Given the description of an element on the screen output the (x, y) to click on. 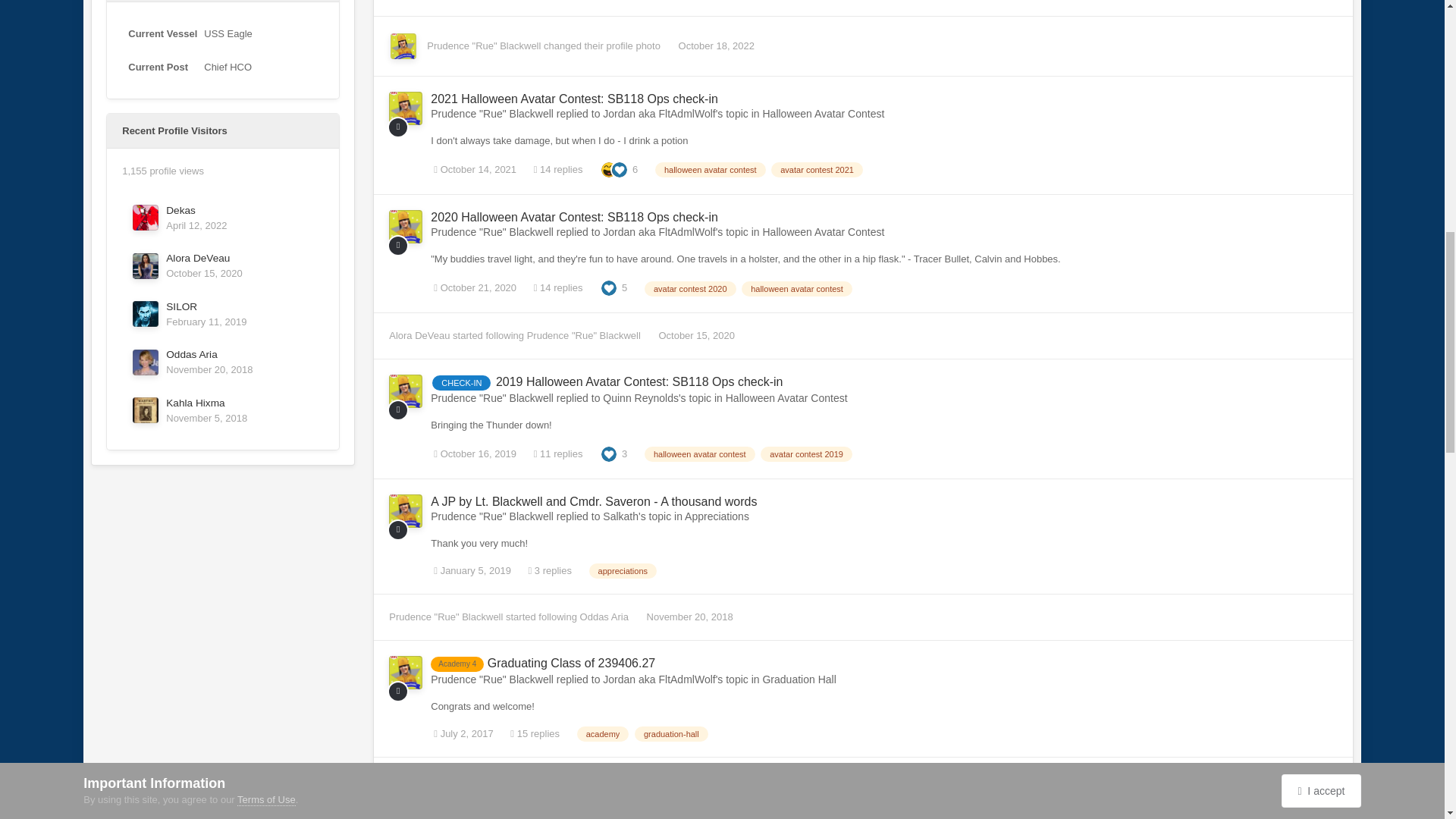
Go to Alora DeVeau's profile (145, 266)
Go to Dekas's profile (145, 217)
Go to Alora DeVeau's profile (197, 257)
Go to Dekas's profile (180, 210)
